Given the description of an element on the screen output the (x, y) to click on. 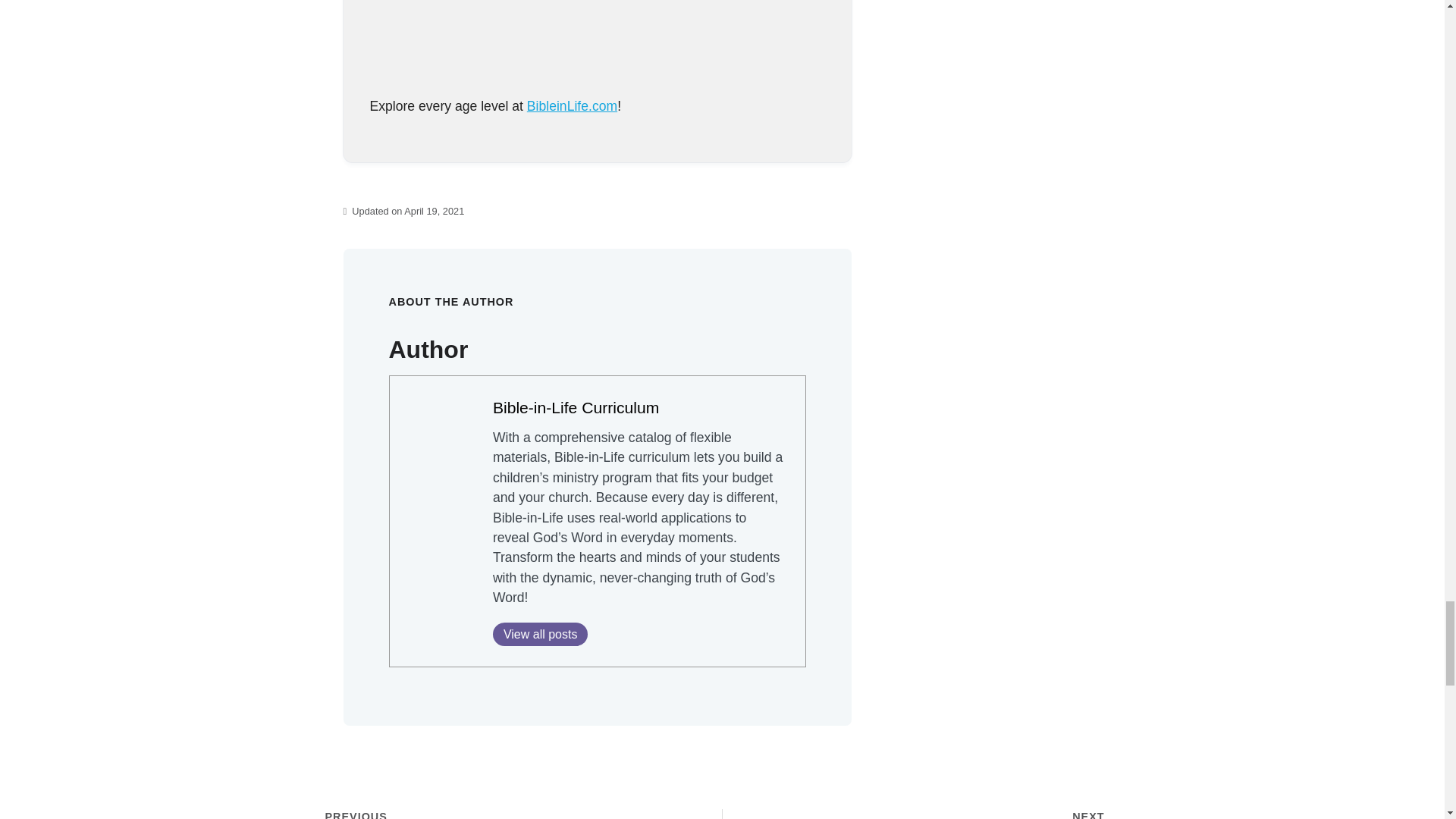
View all posts (540, 634)
Bible-in-Life Curriculum (576, 407)
